Given the description of an element on the screen output the (x, y) to click on. 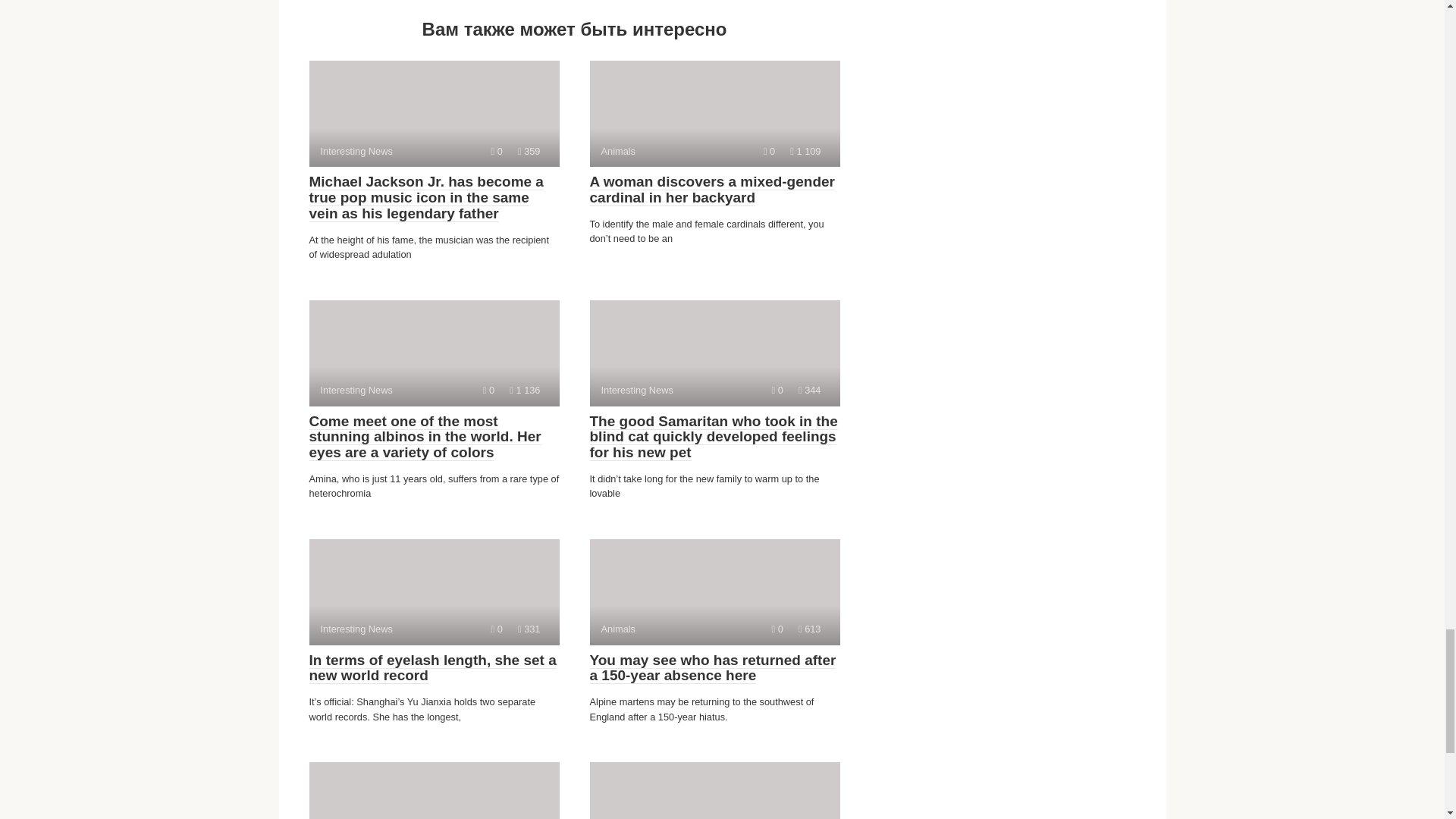
In terms of eyelash length, she set a new world record (432, 667)
You may see who has returned after a 150-year absence here (712, 667)
A woman discovers a mixed-gender cardinal in her backyard (714, 591)
